Given the description of an element on the screen output the (x, y) to click on. 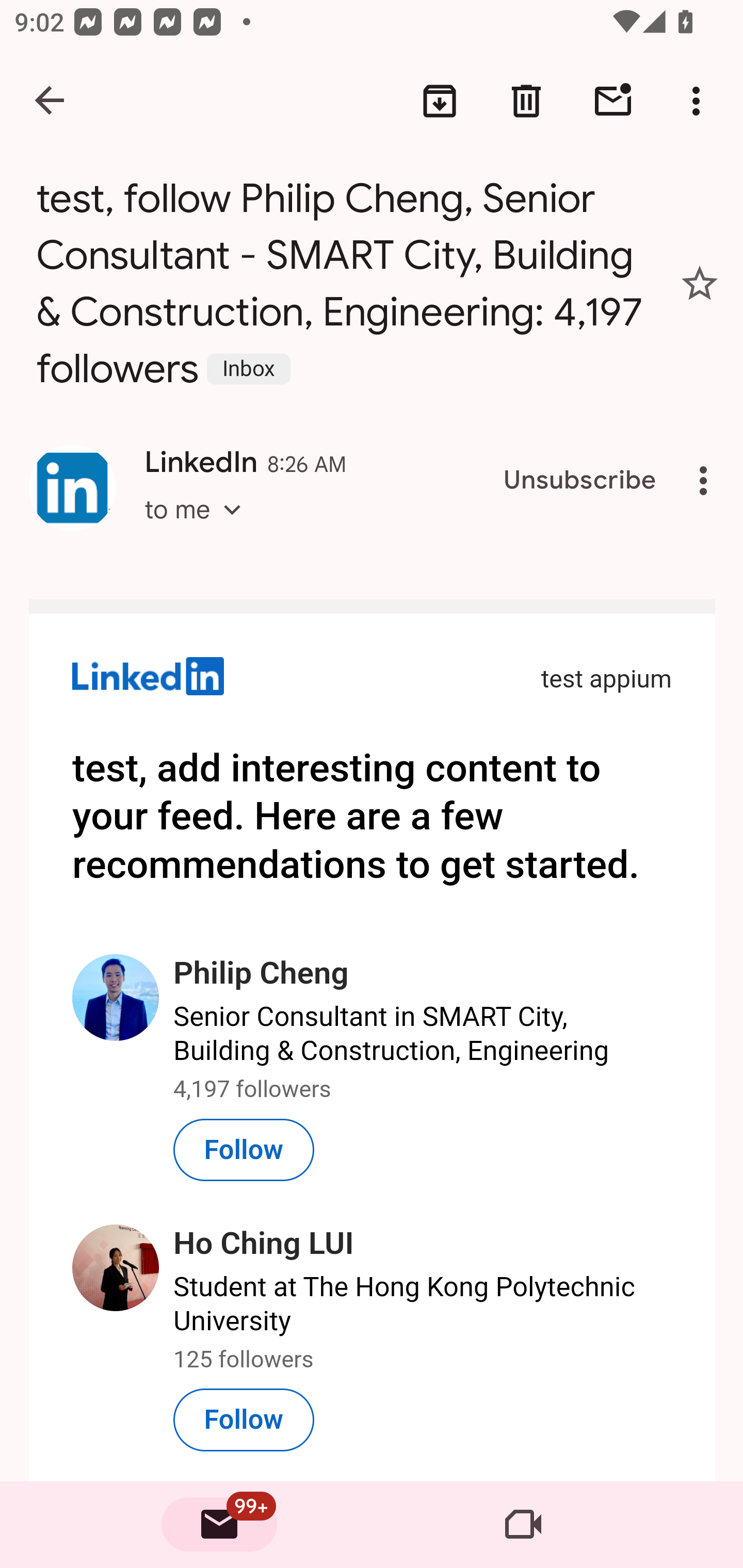
Navigate up (50, 101)
Archive (439, 101)
Delete (525, 101)
Mark unread (612, 101)
More options (699, 101)
Add star (699, 283)
Unsubscribe (579, 480)
More options (706, 480)
Show contact information for LinkedIn (71, 488)
to me (199, 527)
Meet (523, 1524)
